Given the description of an element on the screen output the (x, y) to click on. 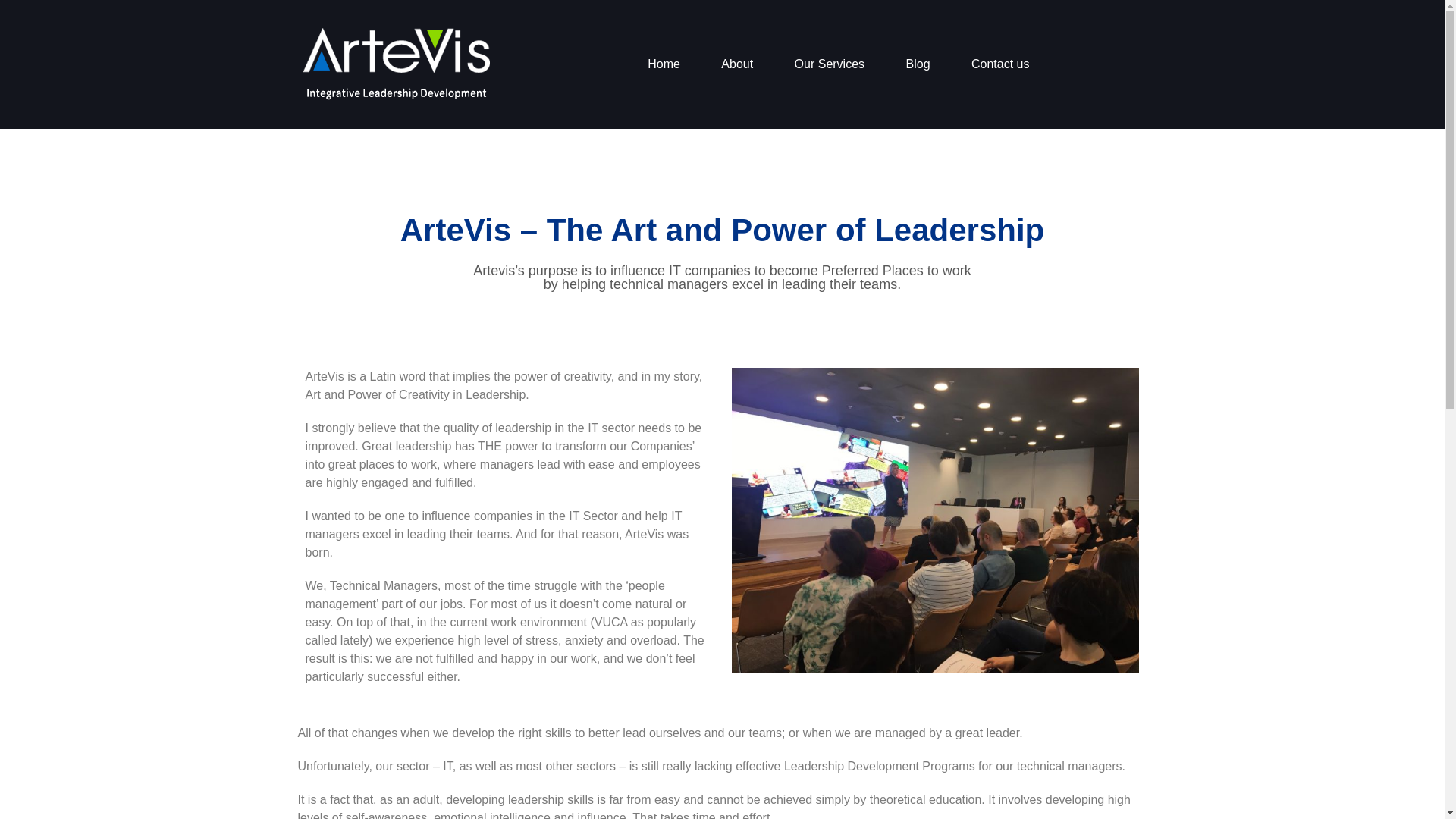
Blog (917, 64)
Home (663, 64)
About (736, 64)
Contact us (1000, 64)
Our Services (829, 64)
